Given the description of an element on the screen output the (x, y) to click on. 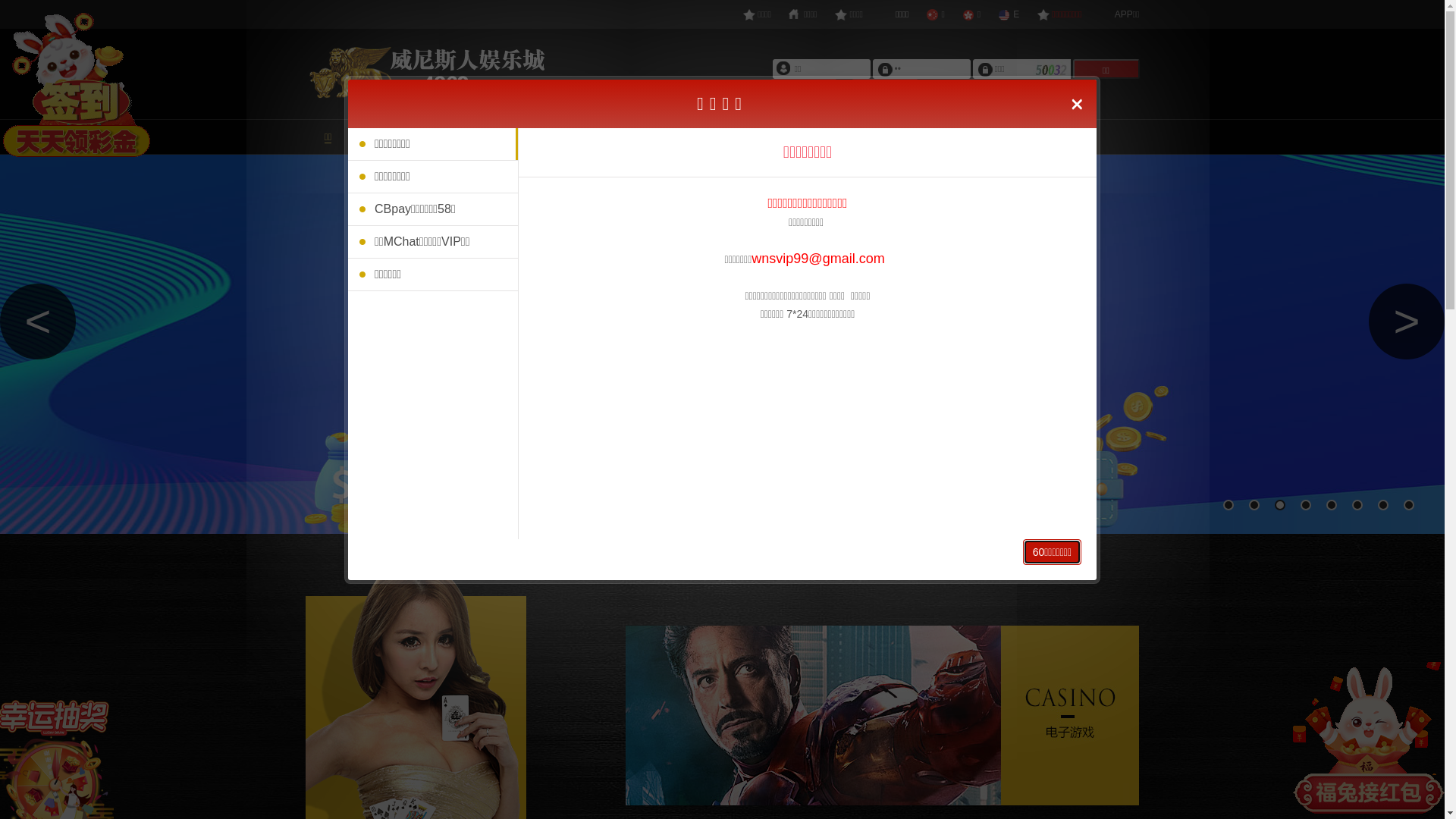
< Element type: text (37, 321)
E Element type: text (1008, 14)
> Element type: text (1406, 321)
